Given the description of an element on the screen output the (x, y) to click on. 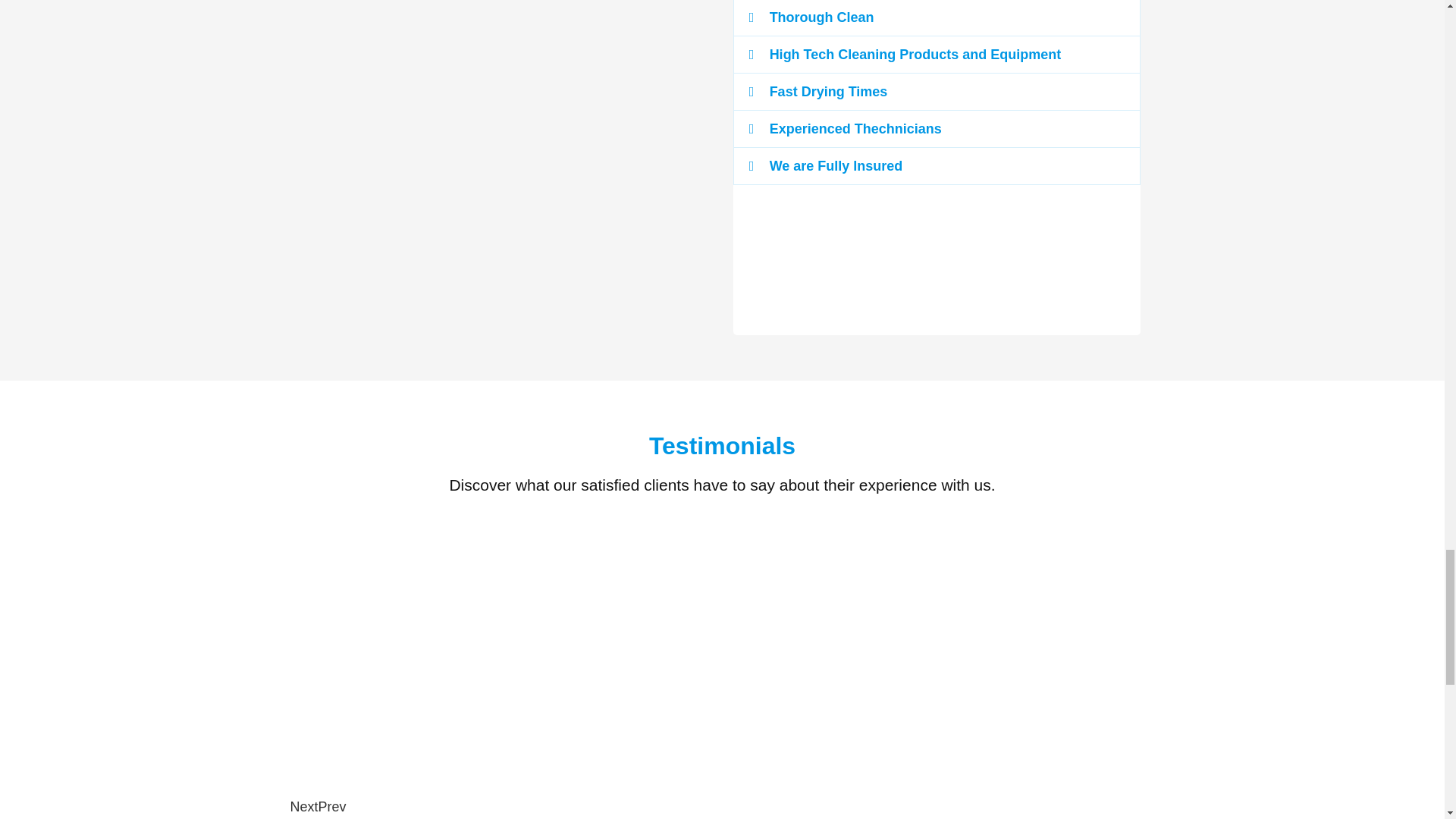
Thorough Clean (822, 17)
